Given the description of an element on the screen output the (x, y) to click on. 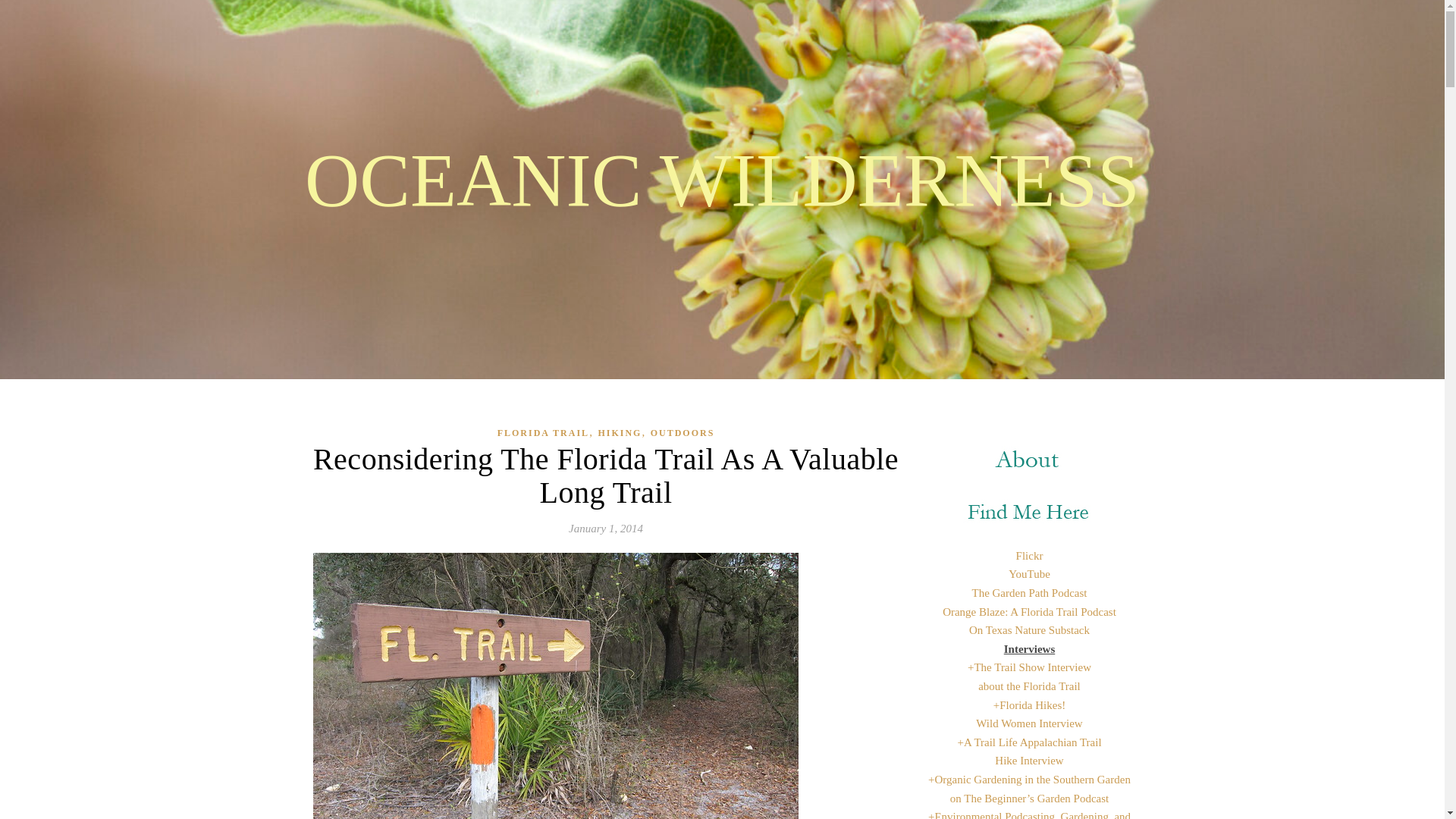
HIKING (619, 433)
OUTDOORS (682, 433)
FLORIDA TRAIL (543, 433)
